Given the description of an element on the screen output the (x, y) to click on. 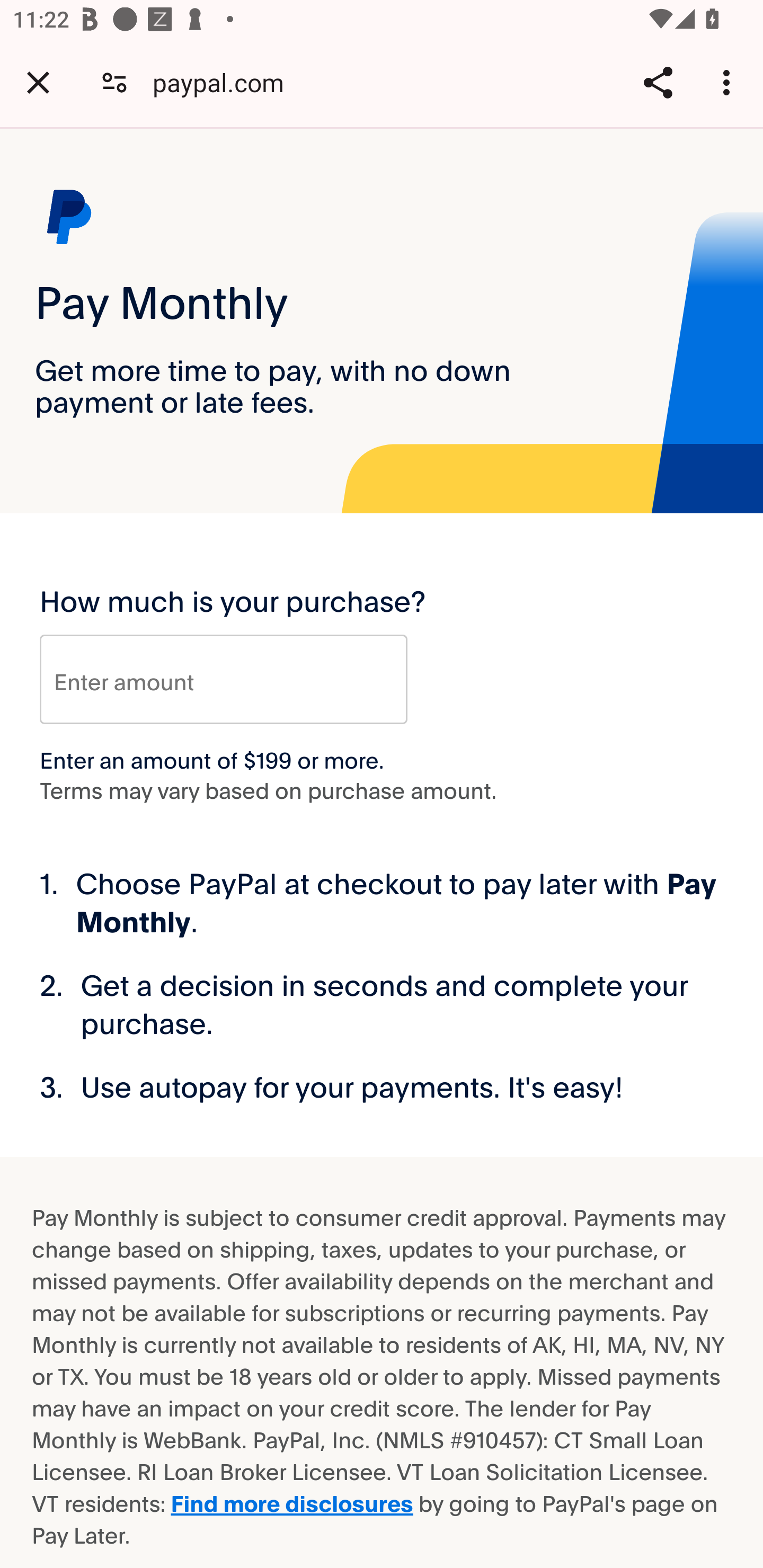
Close tab (38, 82)
Share (657, 82)
Customize and control Google Chrome (729, 82)
Connection is secure (114, 81)
paypal.com (224, 81)
